Given the description of an element on the screen output the (x, y) to click on. 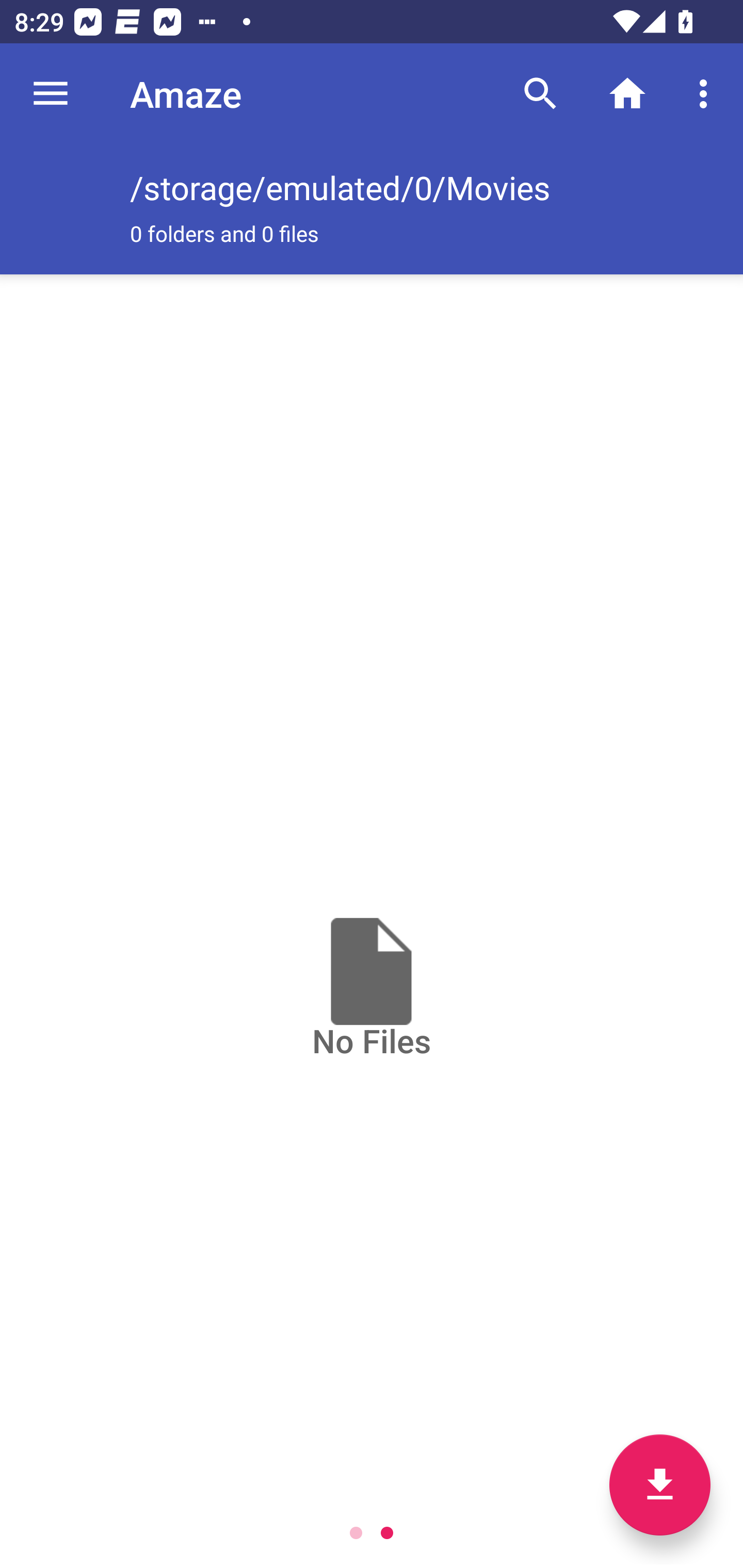
Navigate up (50, 93)
Search (540, 93)
Home (626, 93)
More options (706, 93)
